Given the description of an element on the screen output the (x, y) to click on. 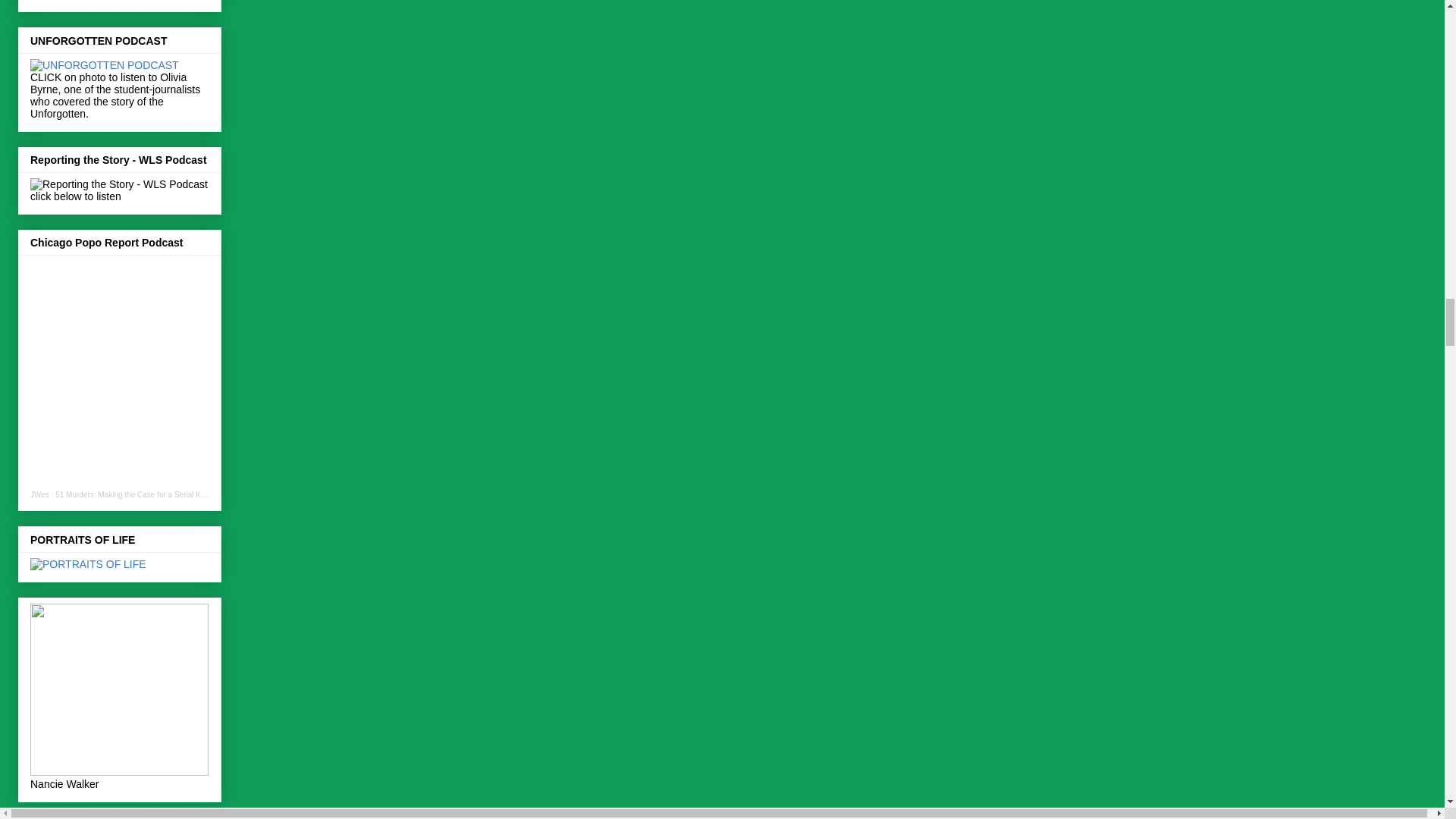
JWes (39, 494)
51 Murders: Making the Case for a Serial Killer in Chicago (152, 494)
JWes (39, 494)
51 Murders: Making the Case for a Serial Killer in Chicago (152, 494)
